Given the description of an element on the screen output the (x, y) to click on. 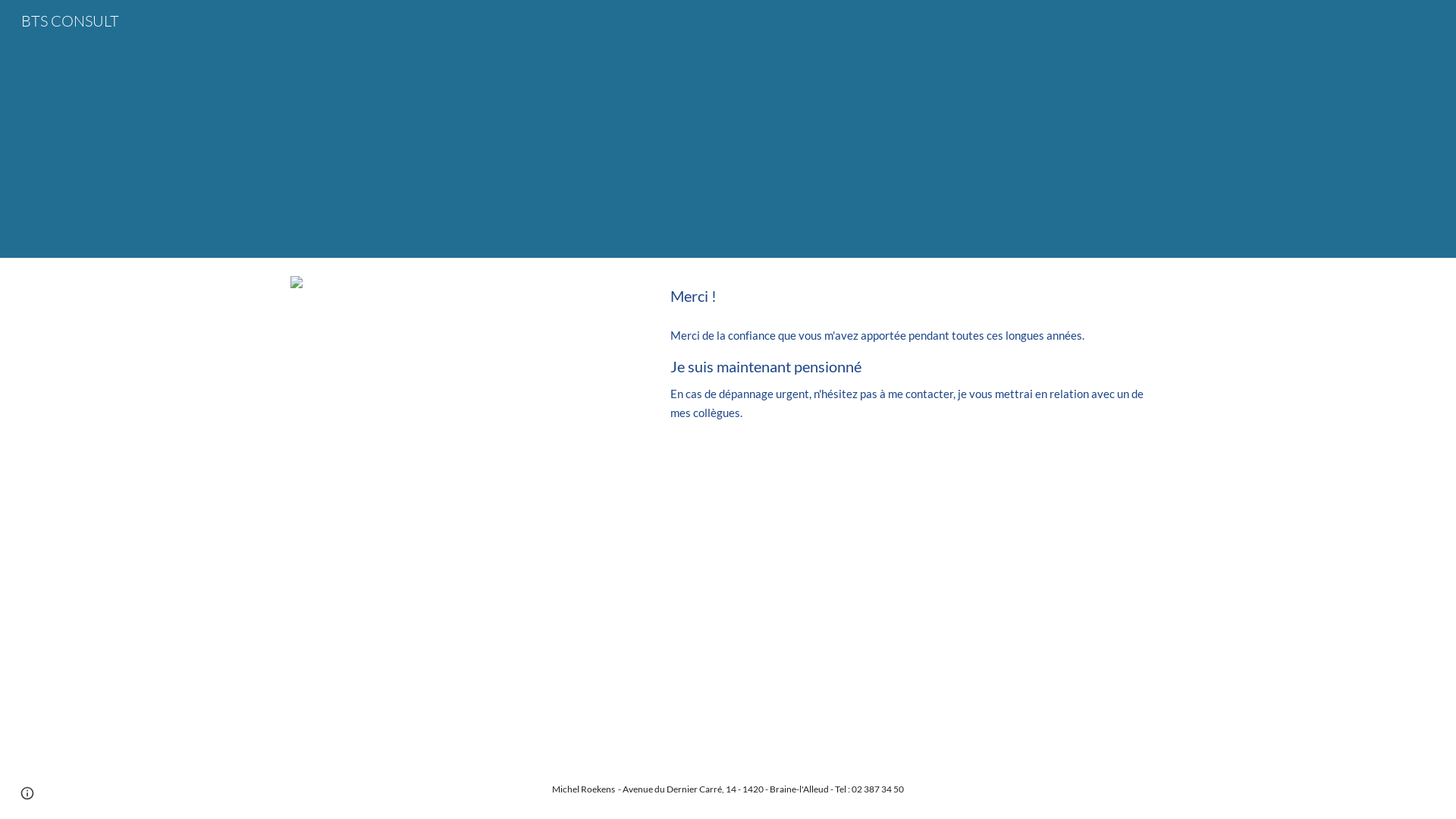
BTS CONSULT Element type: text (70, 18)
